Given the description of an element on the screen output the (x, y) to click on. 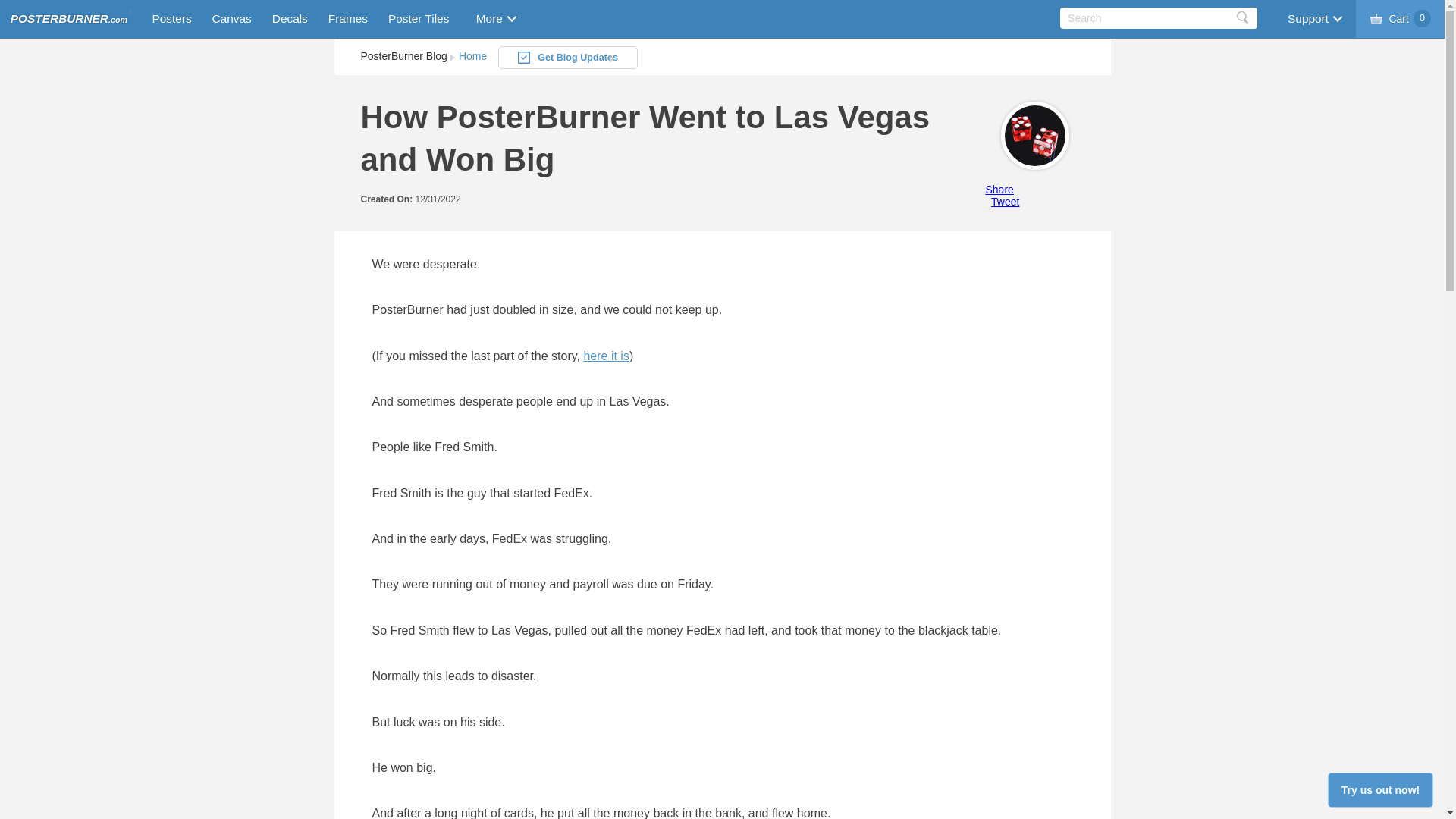
Poster Tiles (418, 18)
Posters (168, 18)
Frames (346, 18)
PosterBurner.com (68, 19)
Support (1313, 18)
Canvas (231, 18)
Decals (289, 18)
More (495, 18)
